Given the description of an element on the screen output the (x, y) to click on. 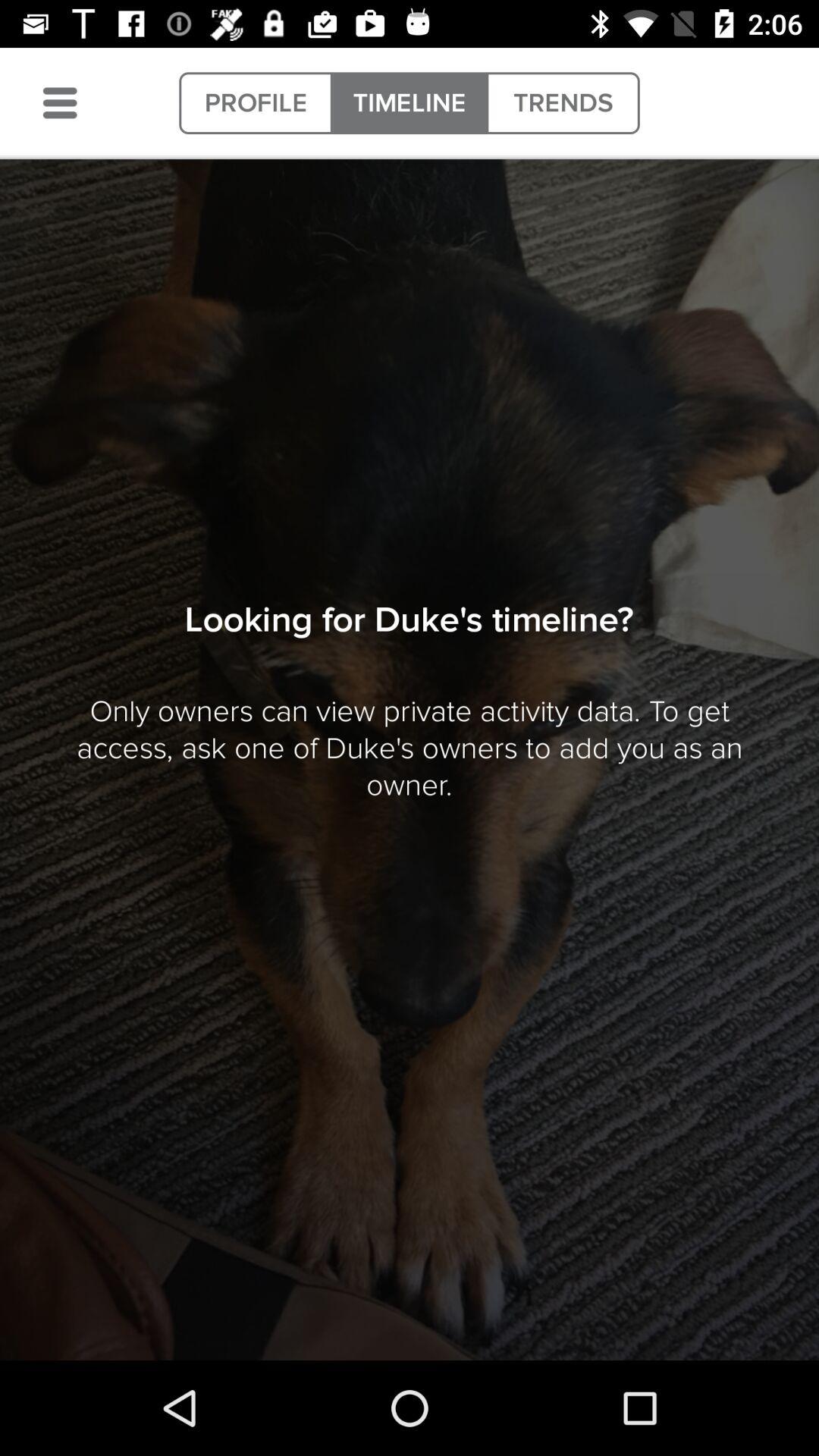
select item next to the profile (60, 103)
